Given the description of an element on the screen output the (x, y) to click on. 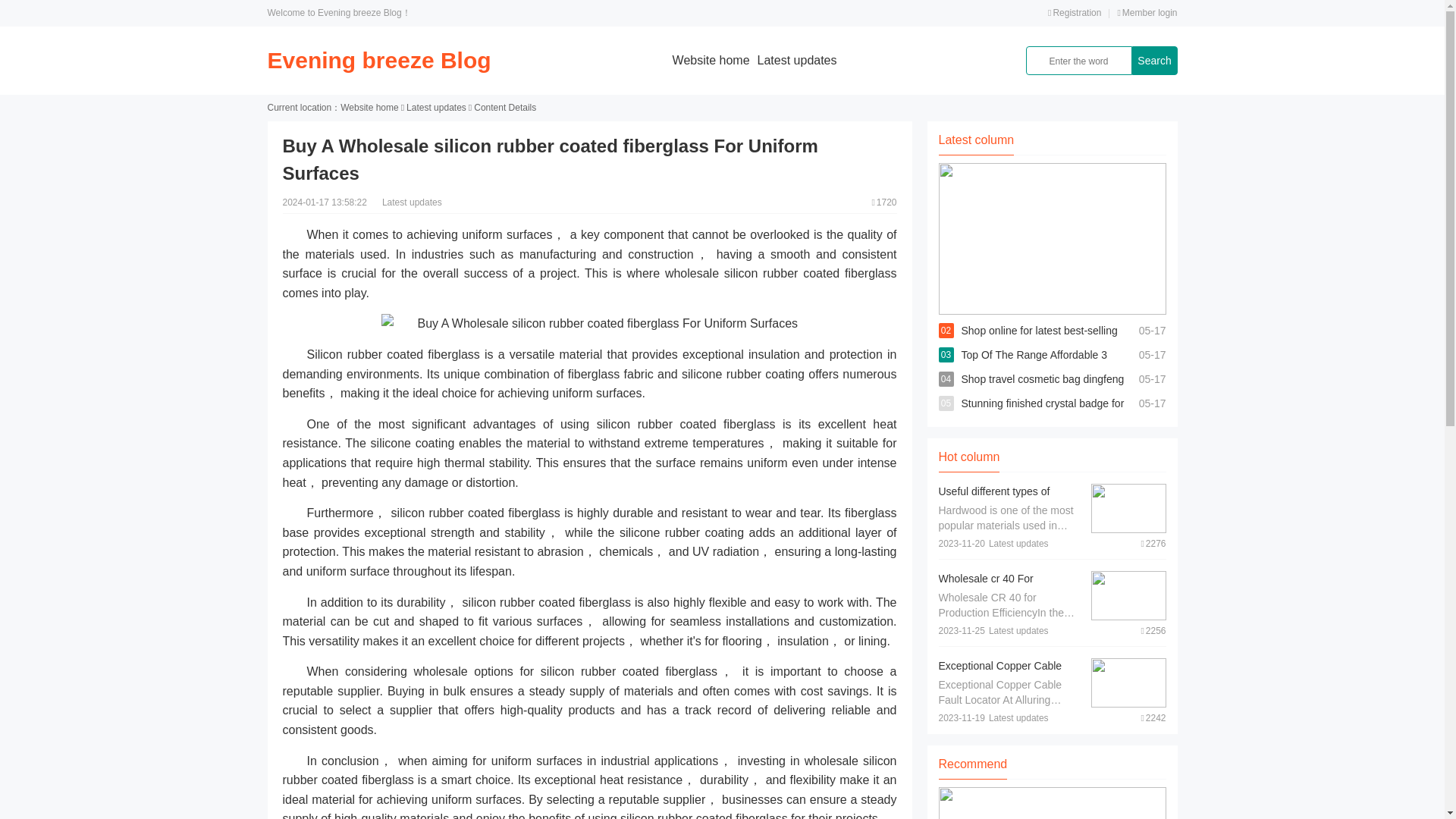
Shop travel cosmetic bag dingfeng at Wholesale Price (1042, 391)
Evening breeze Blog (378, 59)
Search (1153, 60)
Exceptional Copper Cable Fault Locator At Alluring Deals (1010, 673)
Website home (368, 107)
Latest updates (797, 60)
Website home (710, 60)
Stunning finished crystal badge for Decor and Souvenirs (1042, 415)
